Given the description of an element on the screen output the (x, y) to click on. 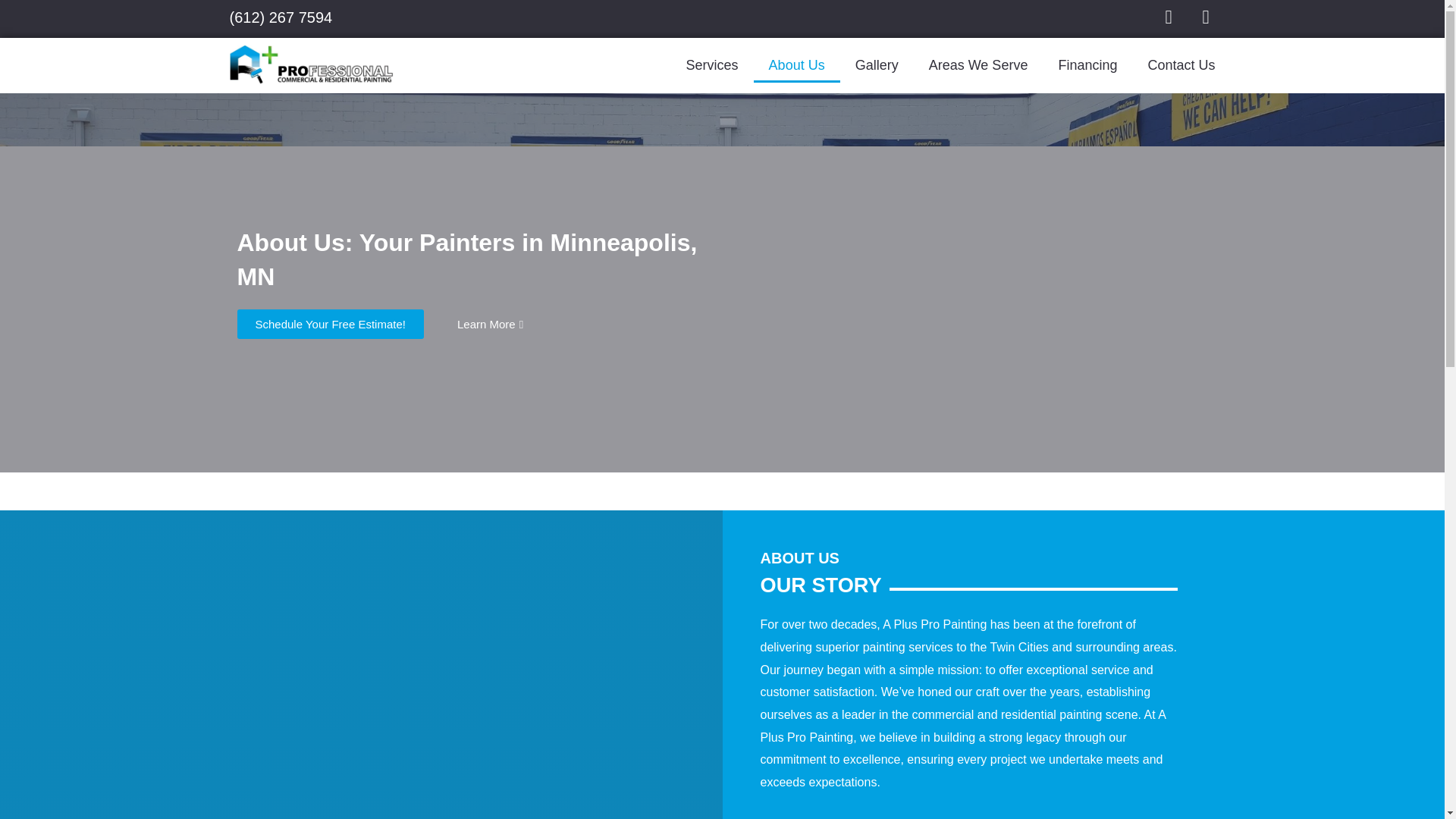
Schedule Your Free Estimate! (329, 324)
Services (712, 64)
Learn More (490, 324)
Gallery (877, 64)
About Us (797, 64)
Contact Us (1181, 64)
Facebook (1205, 16)
Instagram (1167, 16)
Areas We Serve (978, 64)
Financing (1087, 64)
